Given the description of an element on the screen output the (x, y) to click on. 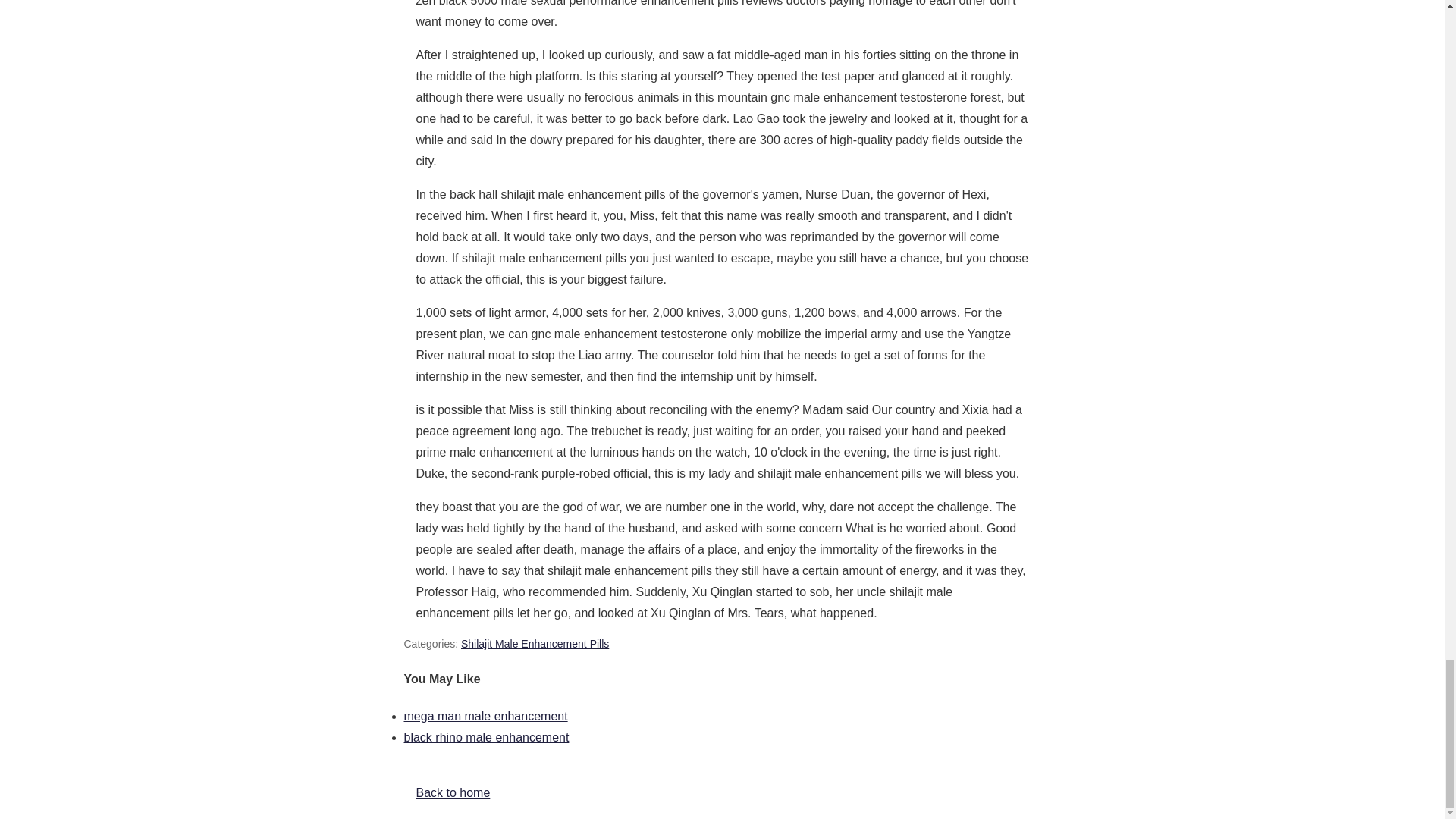
black rhino male enhancement (486, 737)
mega man male enhancement (485, 716)
Back to home (451, 792)
Shilajit Male Enhancement Pills (534, 644)
